Given the description of an element on the screen output the (x, y) to click on. 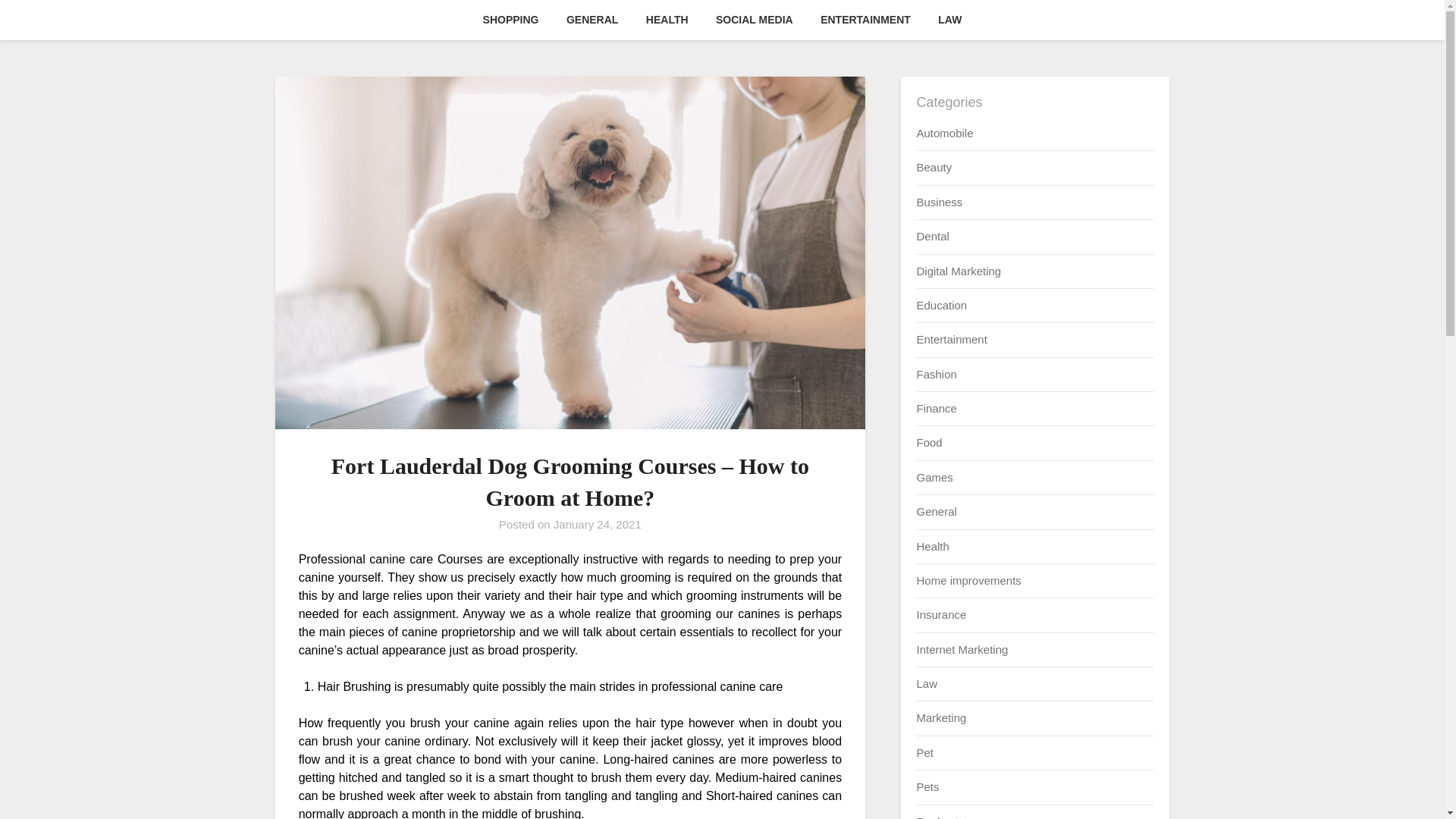
Finance (935, 408)
Dental (932, 236)
Insurance (940, 614)
Internet Marketing (961, 649)
Home improvements (967, 580)
Education (940, 305)
Digital Marketing (958, 269)
General (935, 511)
LAW (950, 20)
Real estate (944, 816)
